Given the description of an element on the screen output the (x, y) to click on. 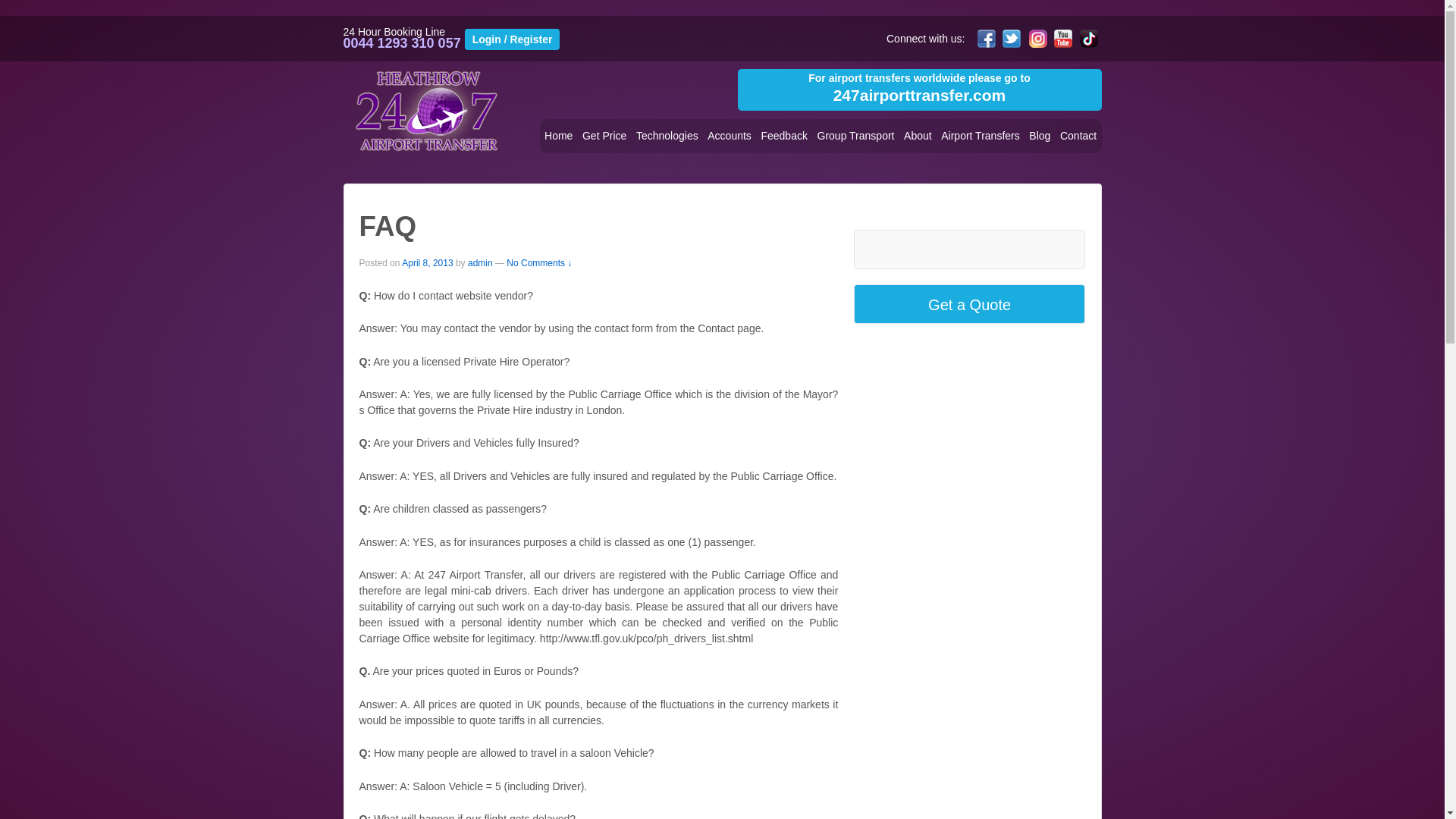
About (917, 135)
About Heathrow taxi transfer (917, 135)
Heathrow transfer blog (1040, 135)
View all posts by admin (480, 262)
Heathrow taxi transfer (427, 110)
Get a Quote (968, 305)
Contact (1078, 135)
April 8, 2013 (426, 262)
Heathrow group transport (855, 135)
Accounts (729, 135)
